Given the description of an element on the screen output the (x, y) to click on. 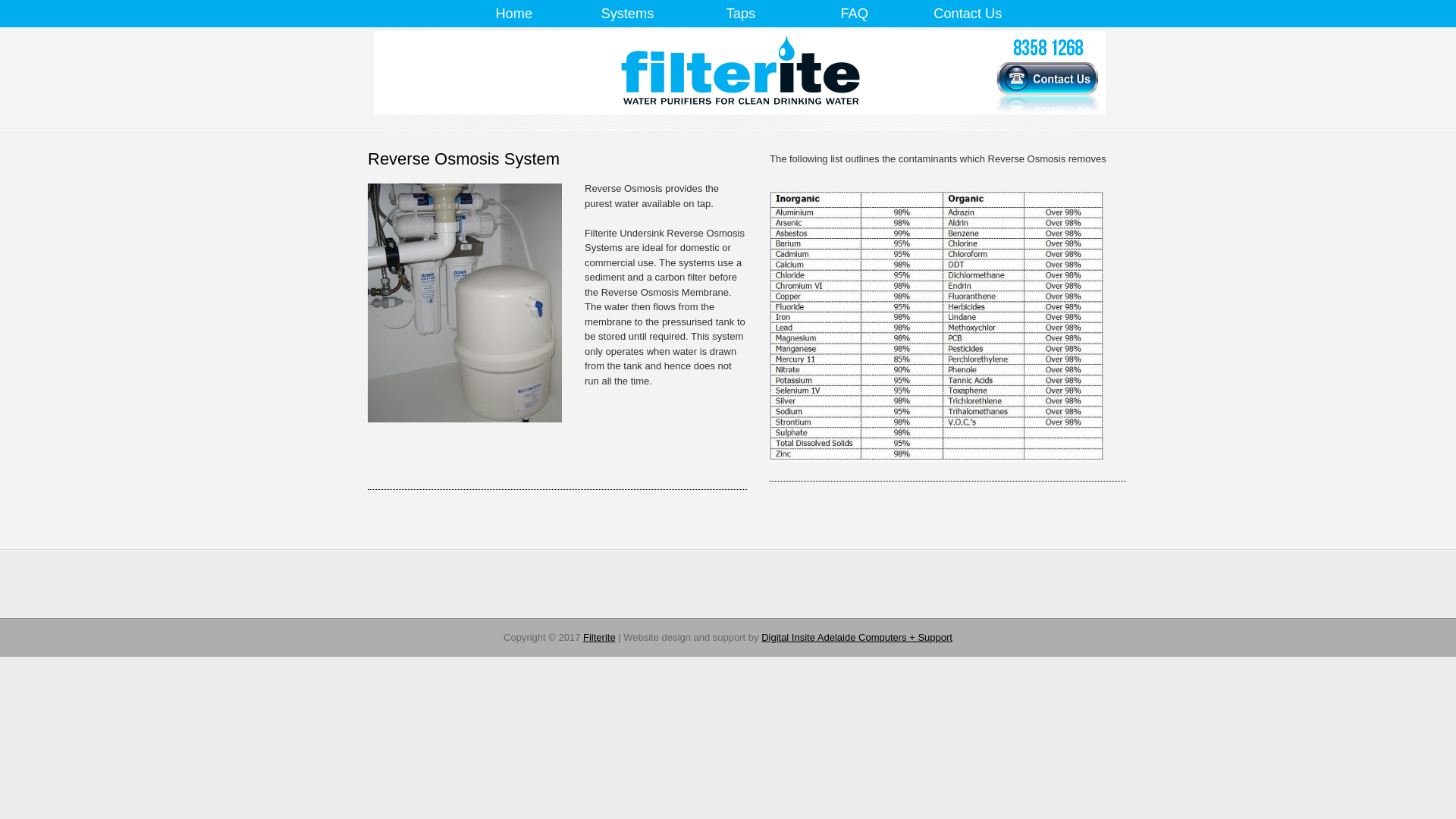
FAQ Element type: text (854, 13)
Filterite Element type: text (599, 637)
Contact Us Element type: text (967, 13)
Taps Element type: text (740, 13)
Digital Insite Adelaide Computers + Support Element type: text (856, 637)
Systems Element type: text (627, 13)
Home Element type: text (514, 13)
